Given the description of an element on the screen output the (x, y) to click on. 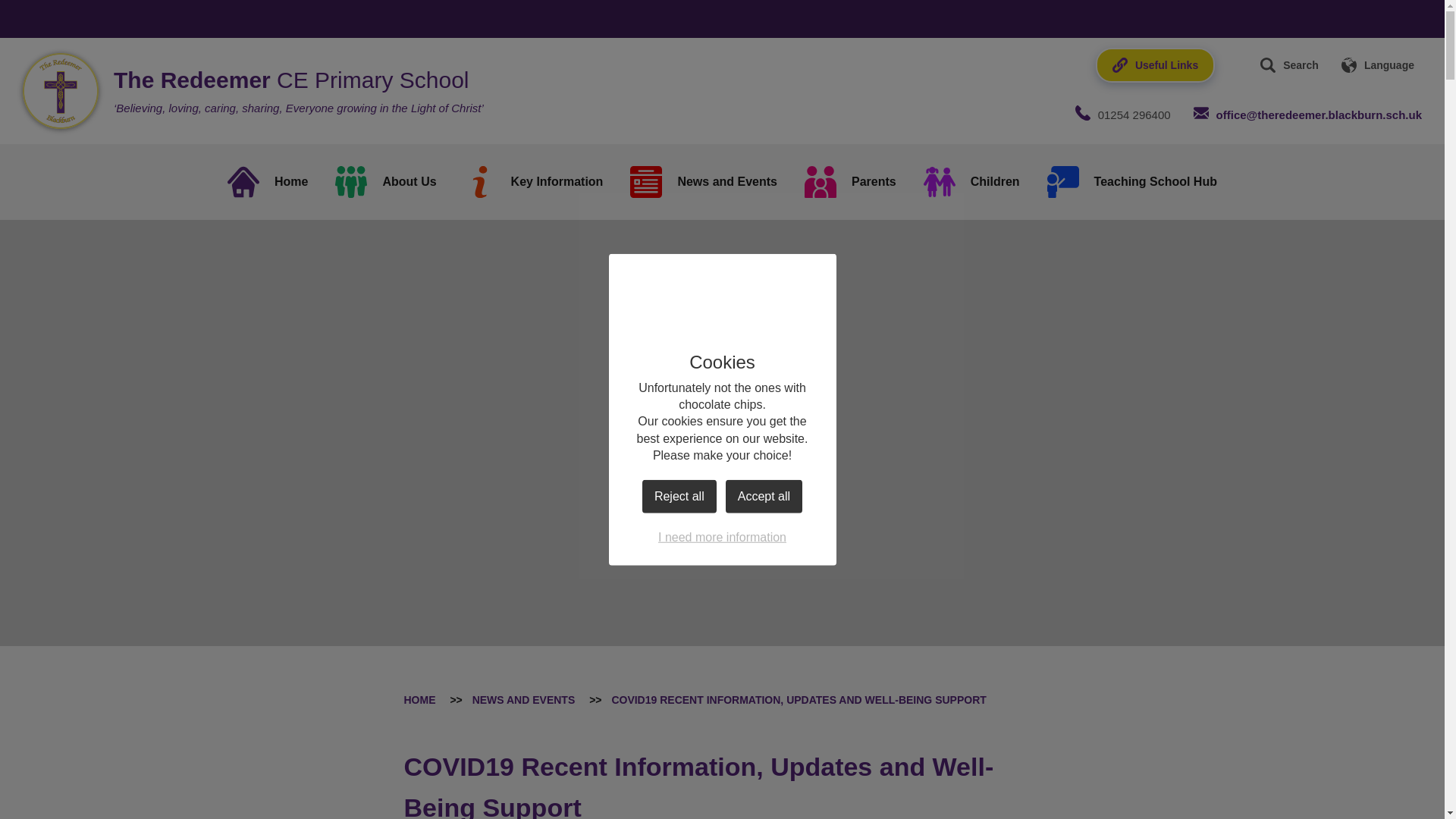
About Us (385, 182)
Key Information (533, 182)
Home Page (61, 90)
01254 296400 (1122, 114)
Home (267, 182)
